Given the description of an element on the screen output the (x, y) to click on. 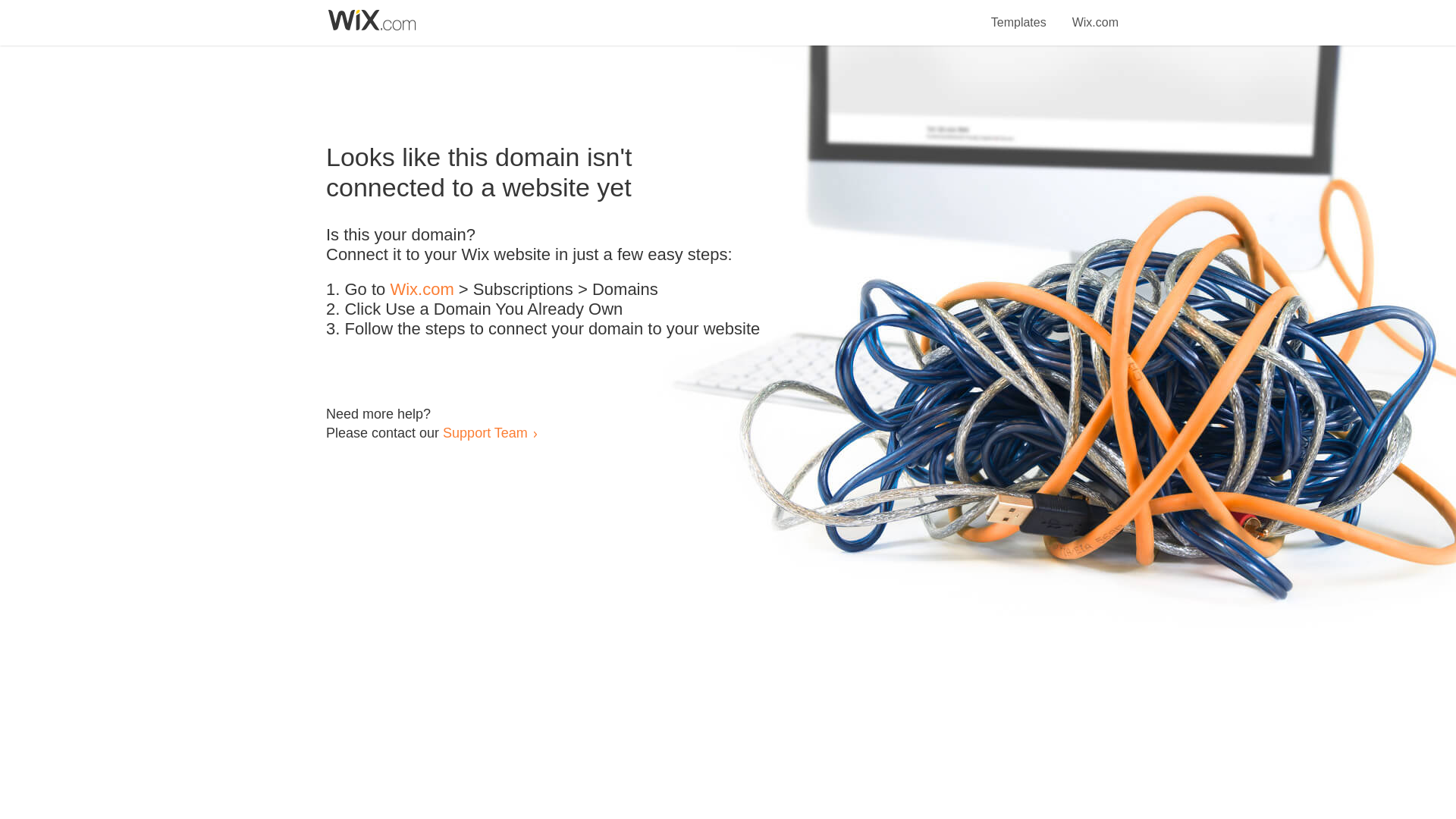
Wix.com (1095, 14)
Wix.com (421, 289)
Templates (1018, 14)
Support Team (484, 432)
